Given the description of an element on the screen output the (x, y) to click on. 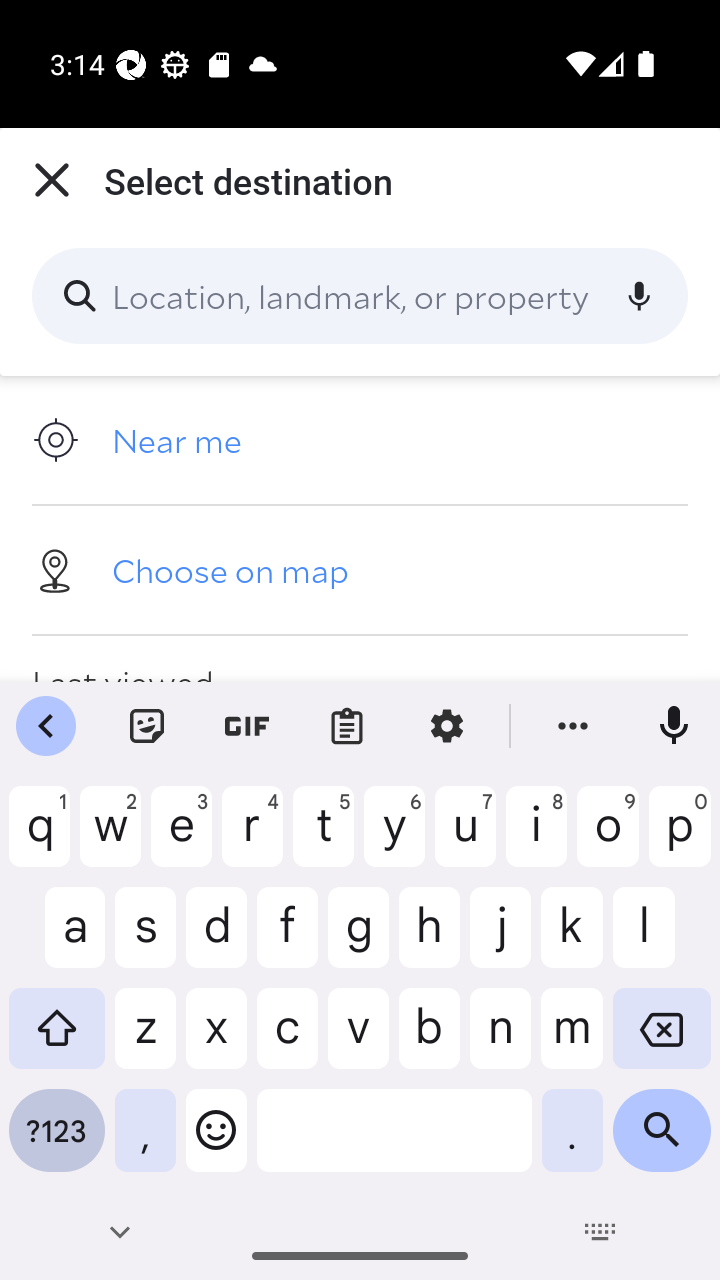
Location, landmark, or property (359, 296)
Near me (360, 440)
Choose on map (360, 569)
